Given the description of an element on the screen output the (x, y) to click on. 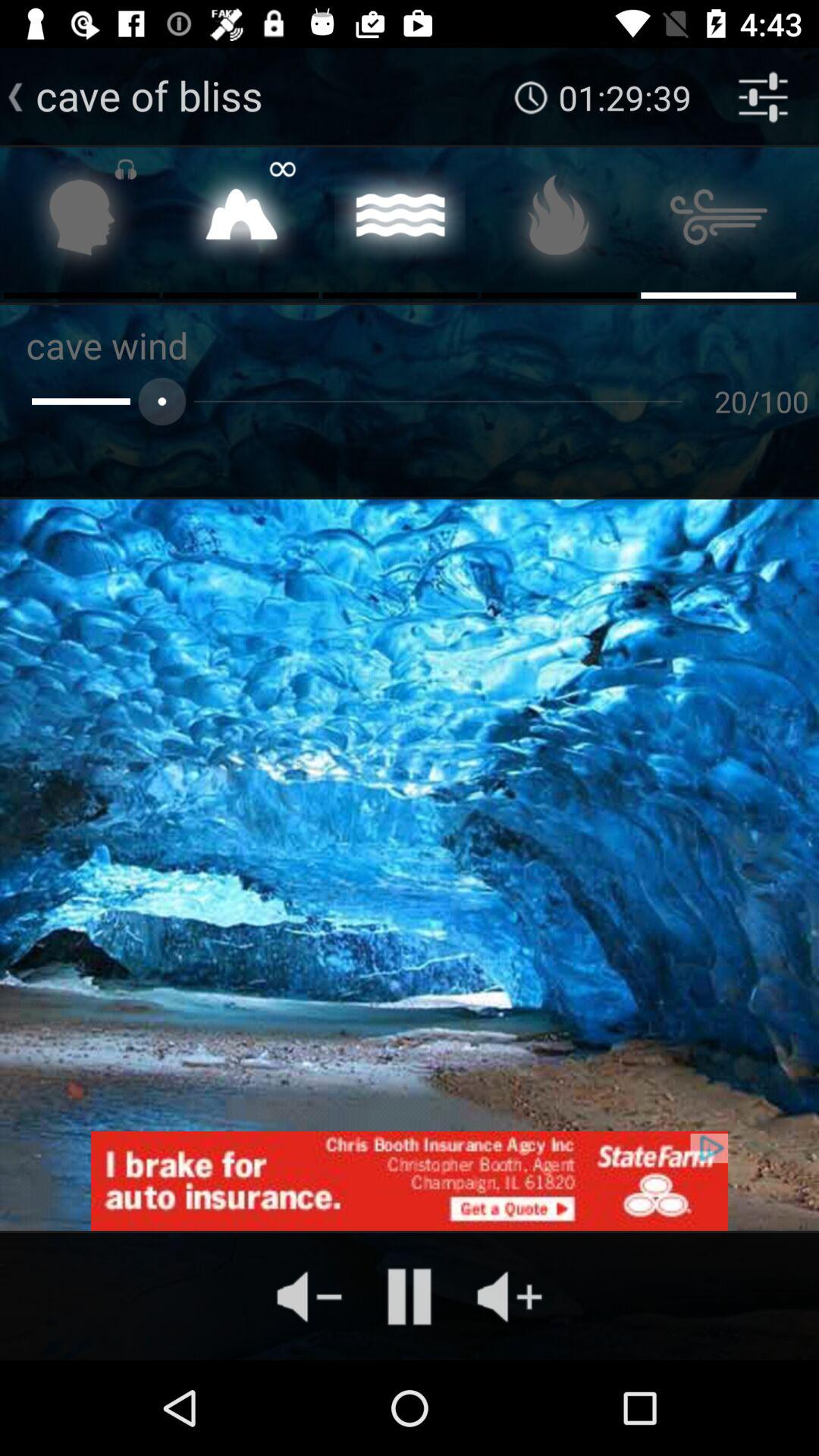
menu (559, 221)
